Given the description of an element on the screen output the (x, y) to click on. 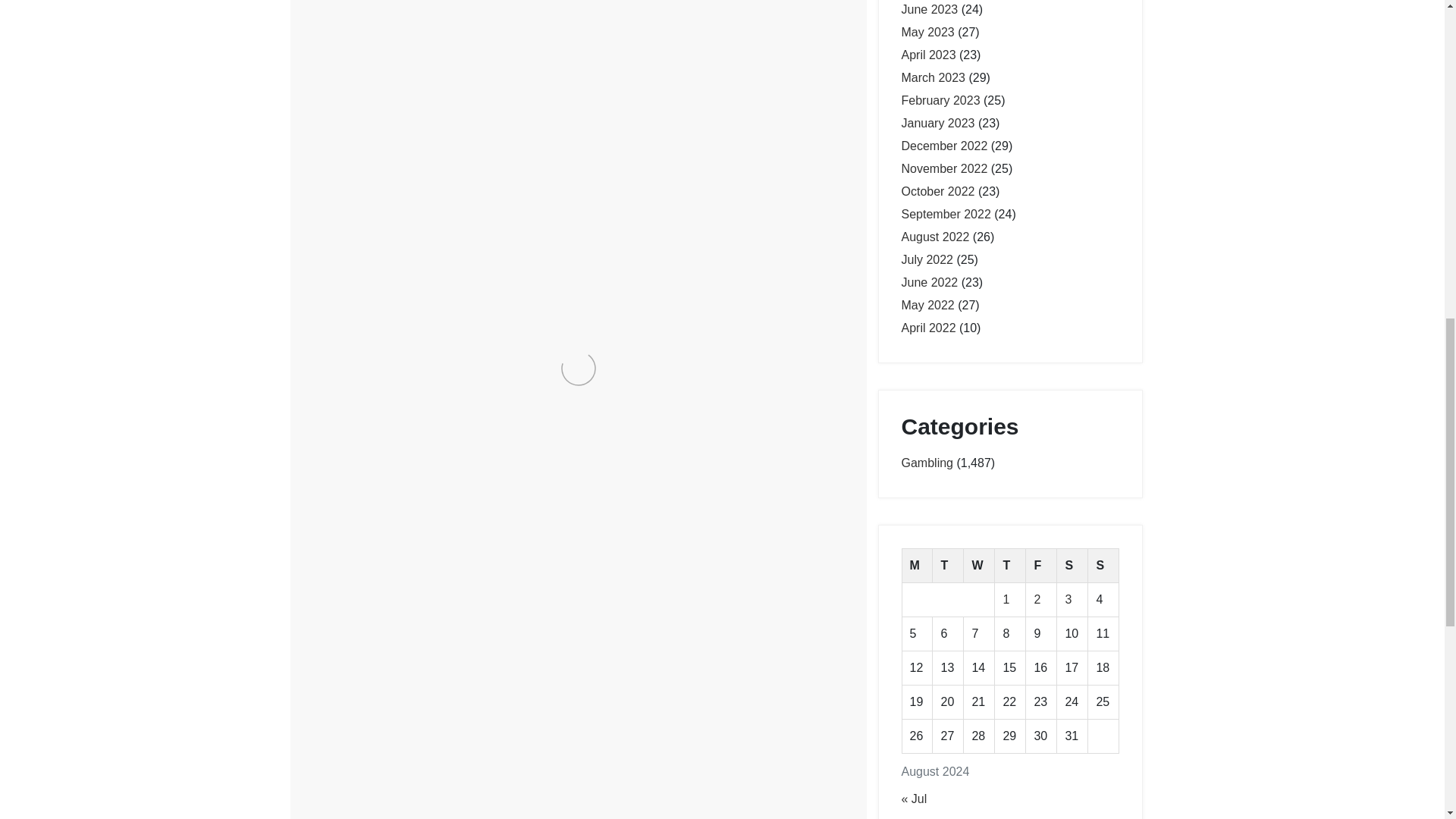
June 2022 (929, 282)
The Basics of Baccarat (371, 454)
Sunday (1103, 565)
April 2023 (928, 54)
Tuesday (948, 565)
October 2022 (937, 191)
Important Things You Should Know Before Playing Roulette (439, 489)
May 2023 (927, 31)
Friday (1041, 565)
Wednesday (978, 565)
March 2023 (933, 77)
Gambling (365, 395)
June 2023 (929, 9)
Saturday (1072, 565)
July 2022 (927, 259)
